Given the description of an element on the screen output the (x, y) to click on. 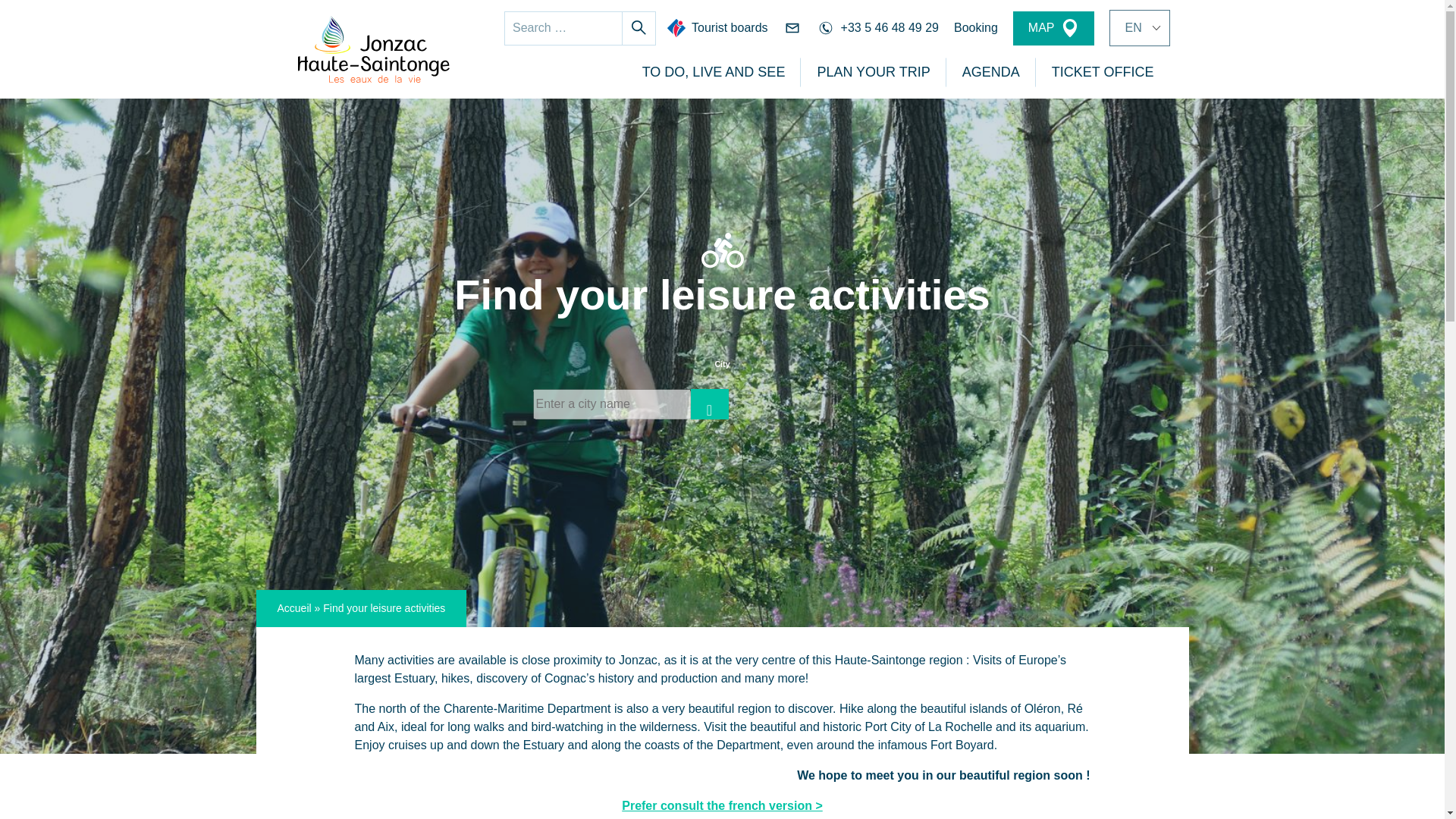
MAP (1053, 27)
Contact us (792, 27)
TO DO, LIVE AND SEE (714, 71)
Search (638, 27)
My position (709, 404)
TICKET OFFICE (1102, 71)
Tourist boards (717, 27)
Accueil (294, 607)
Booking (975, 27)
